Given the description of an element on the screen output the (x, y) to click on. 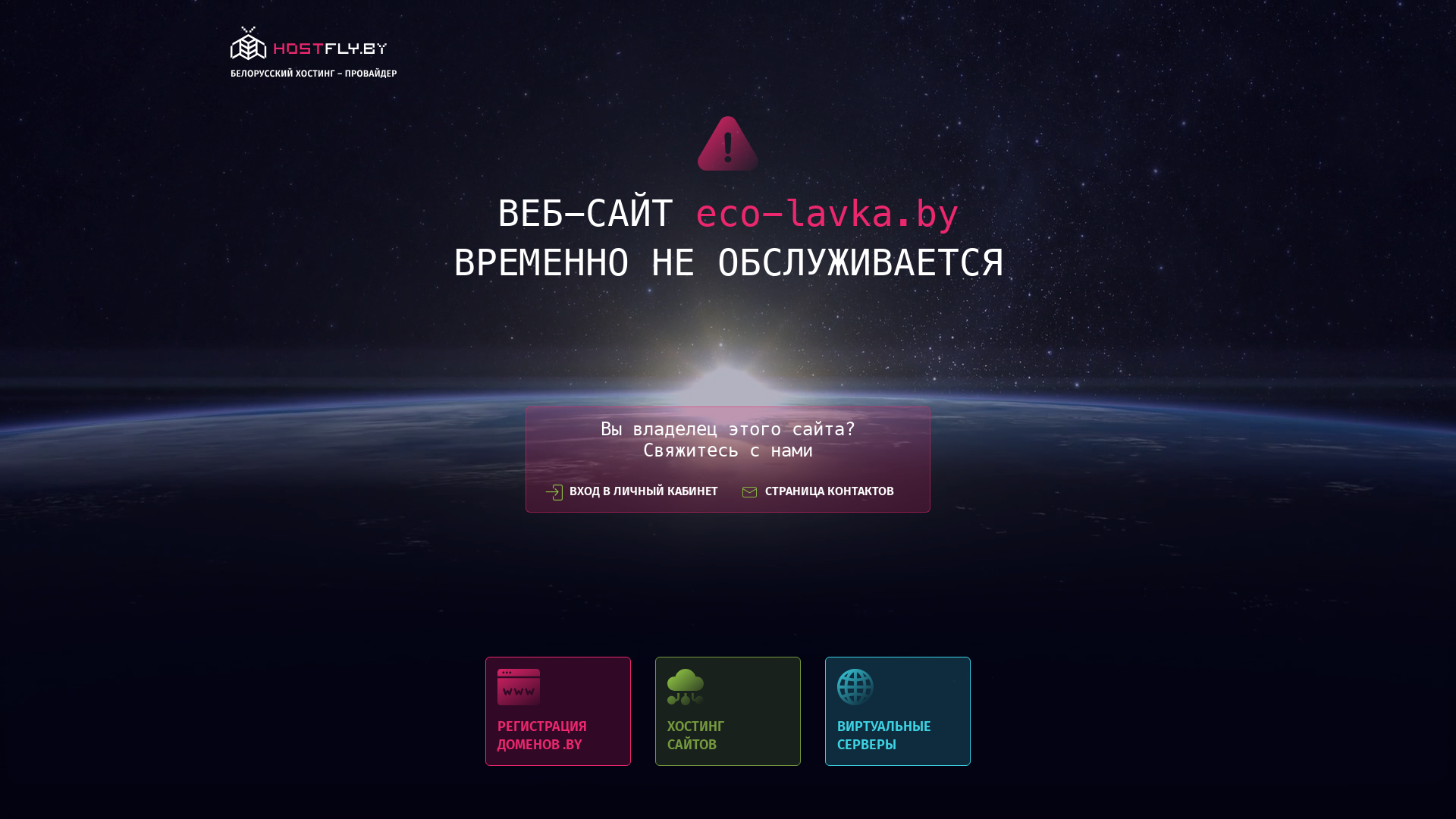
LINK Element type: text (313, 56)
